Given the description of an element on the screen output the (x, y) to click on. 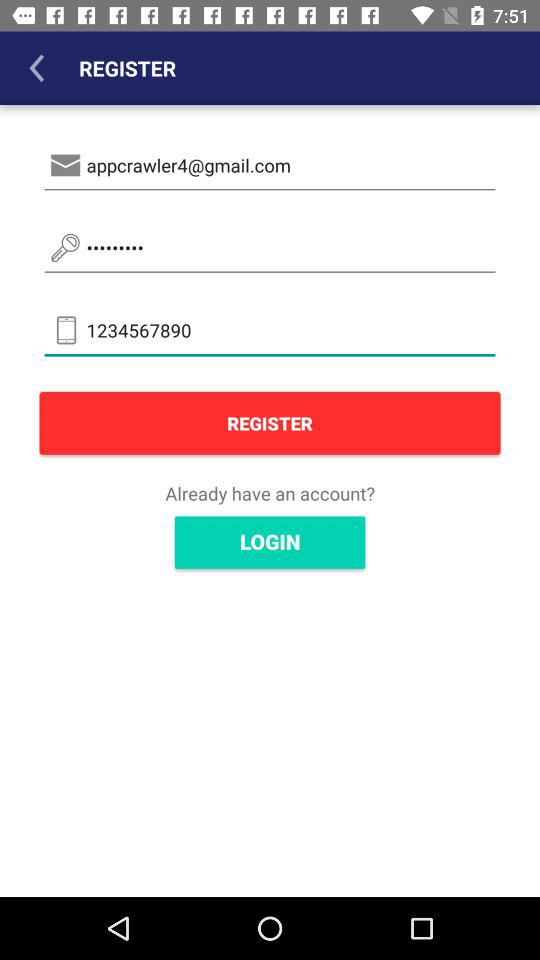
select the already have an icon (269, 493)
